Given the description of an element on the screen output the (x, y) to click on. 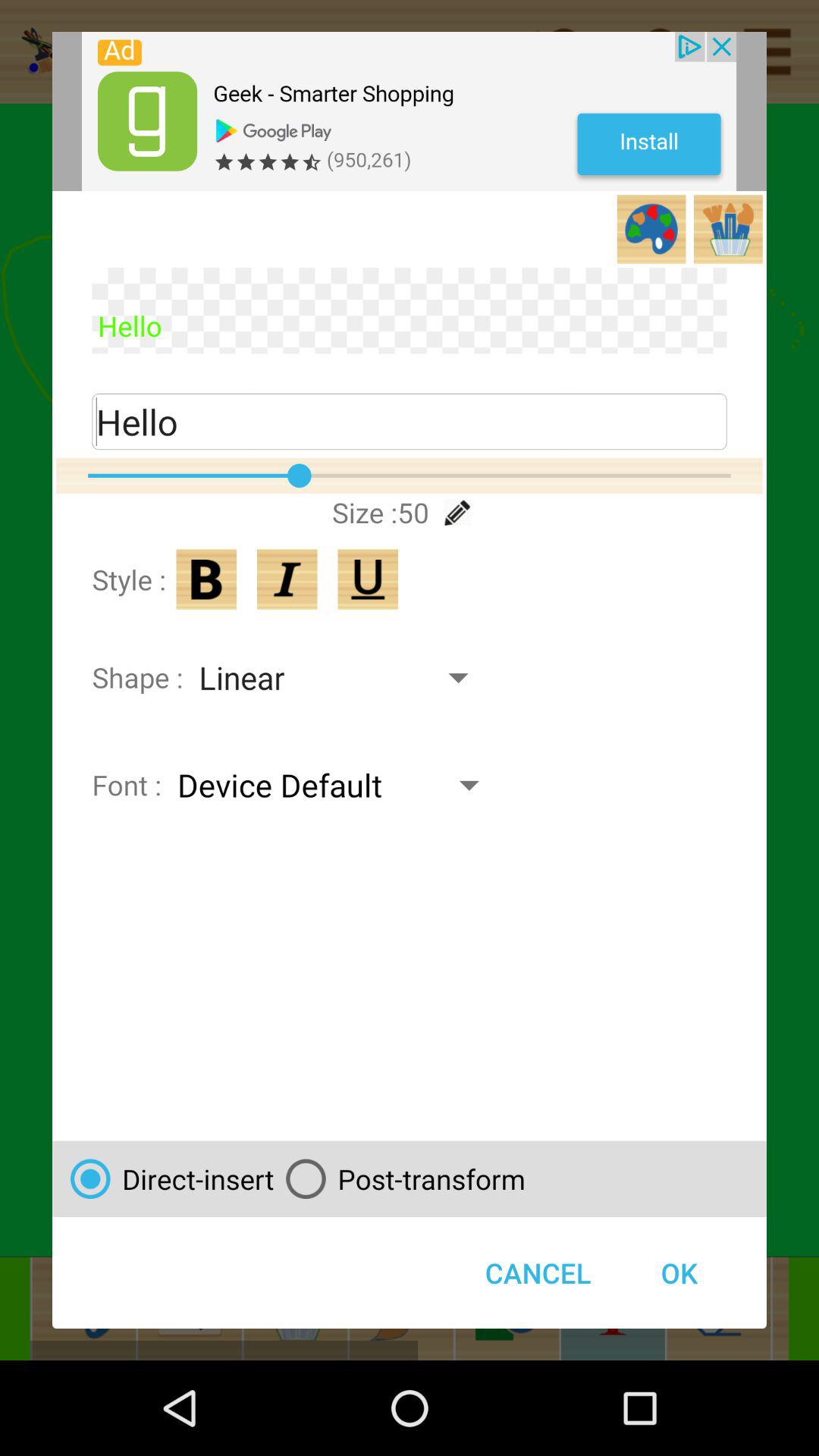
toggle bold text (206, 579)
